Given the description of an element on the screen output the (x, y) to click on. 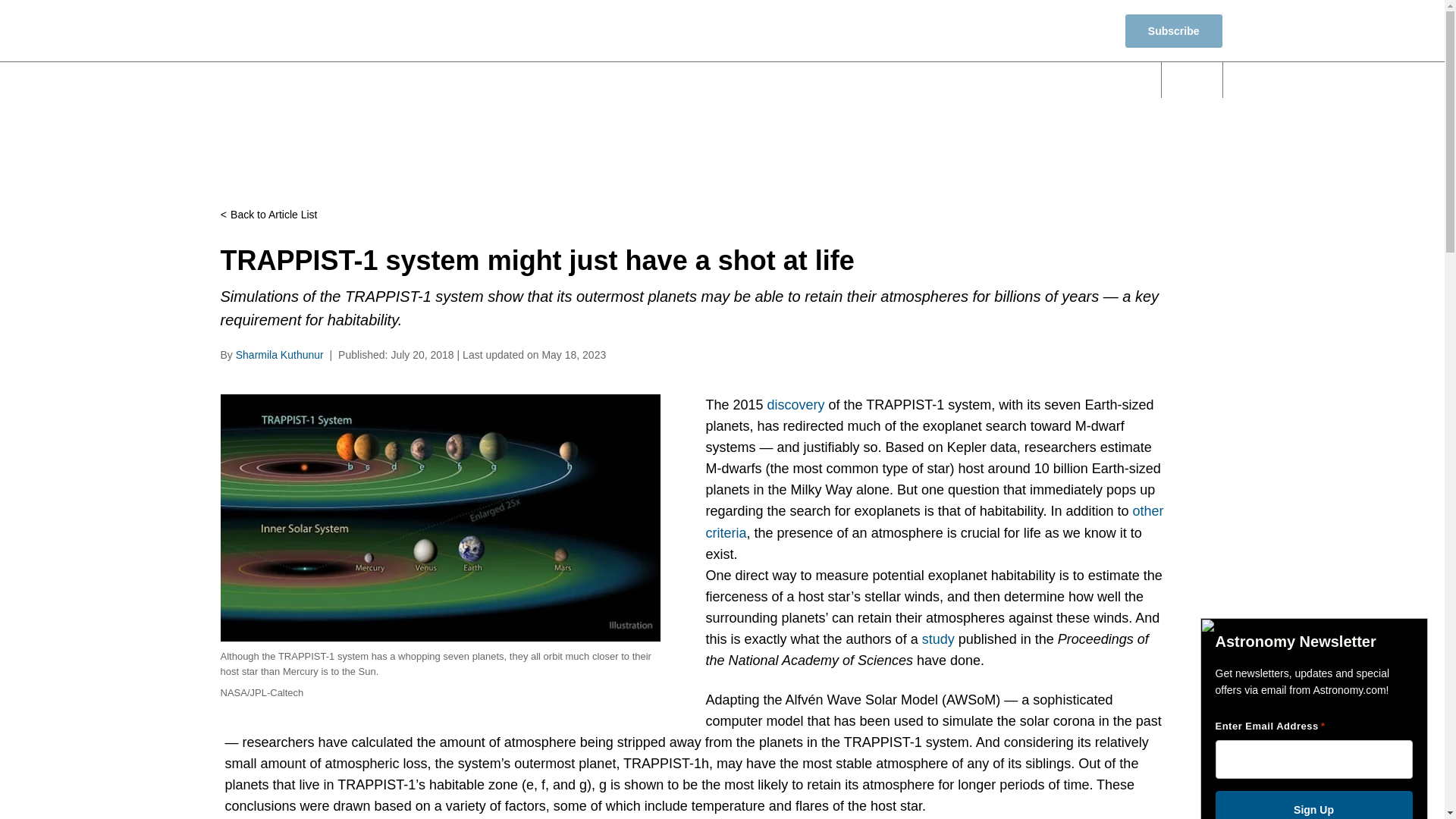
Science (618, 79)
Sign Up (1313, 805)
Subscribe (1173, 30)
Ask Astro (1096, 79)
Observing (720, 79)
News (532, 79)
Space Exploration (850, 79)
Posts by Sharmila Kuthunur (279, 354)
Search (1192, 79)
Shop (1081, 30)
